Given the description of an element on the screen output the (x, y) to click on. 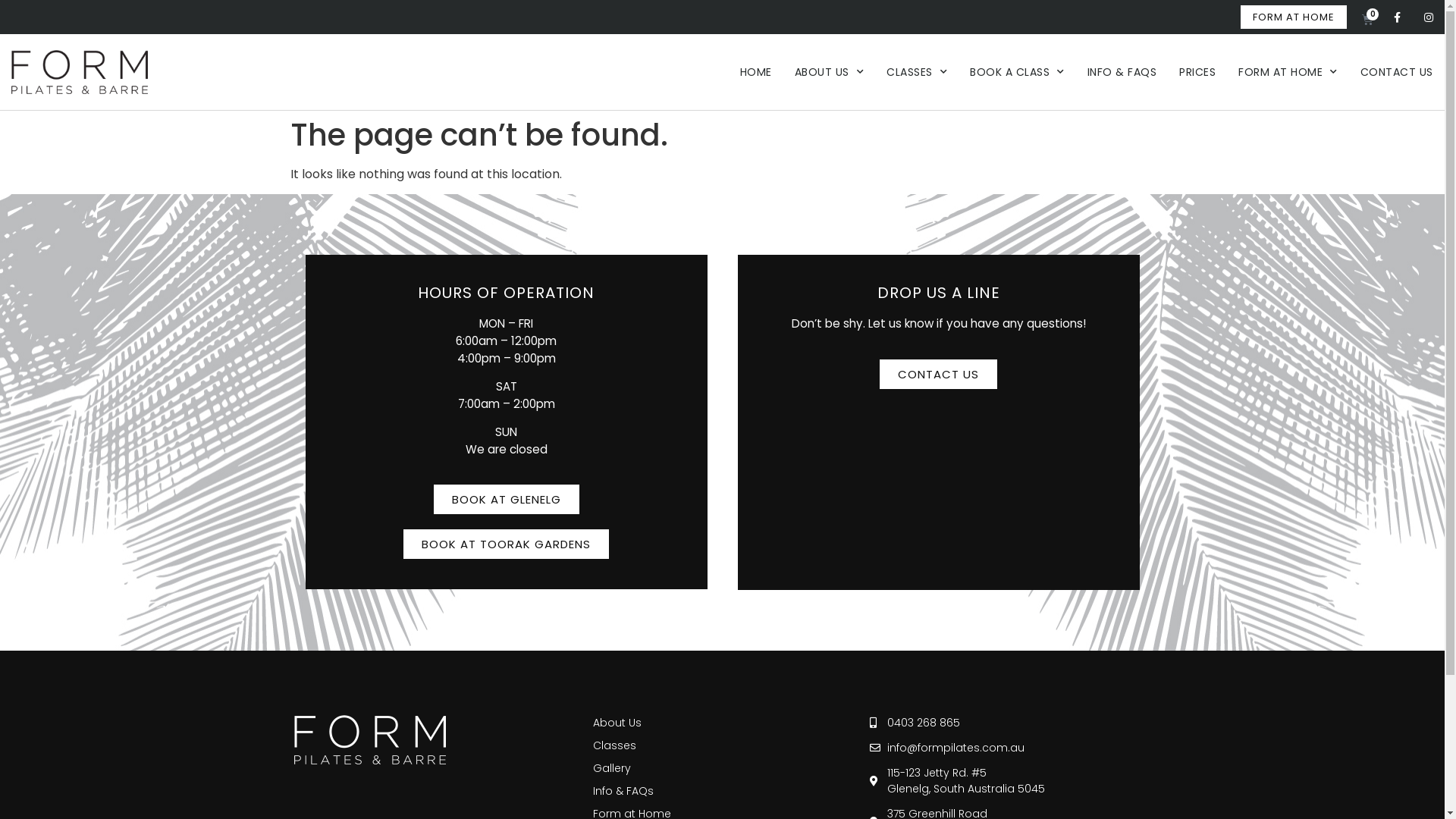
BOOK AT GLENELG Element type: text (506, 499)
CONTACT US Element type: text (938, 374)
Gallery Element type: text (721, 767)
BOOK AT TOORAK GARDENS Element type: text (505, 543)
FORM AT HOME Element type: text (1293, 16)
PRICES Element type: text (1196, 71)
CLASSES Element type: text (916, 71)
0 Element type: text (1367, 17)
ABOUT US Element type: text (829, 71)
BOOK A CLASS Element type: text (1017, 71)
About Us Element type: text (721, 722)
Classes Element type: text (721, 745)
INFO & FAQS Element type: text (1122, 71)
CONTACT US Element type: text (1396, 71)
Info & FAQs Element type: text (721, 790)
FORM AT HOME Element type: text (1287, 71)
HOME Element type: text (755, 71)
0403 268 865 Element type: text (1009, 723)
info@formpilates.com.au Element type: text (1009, 748)
